Given the description of an element on the screen output the (x, y) to click on. 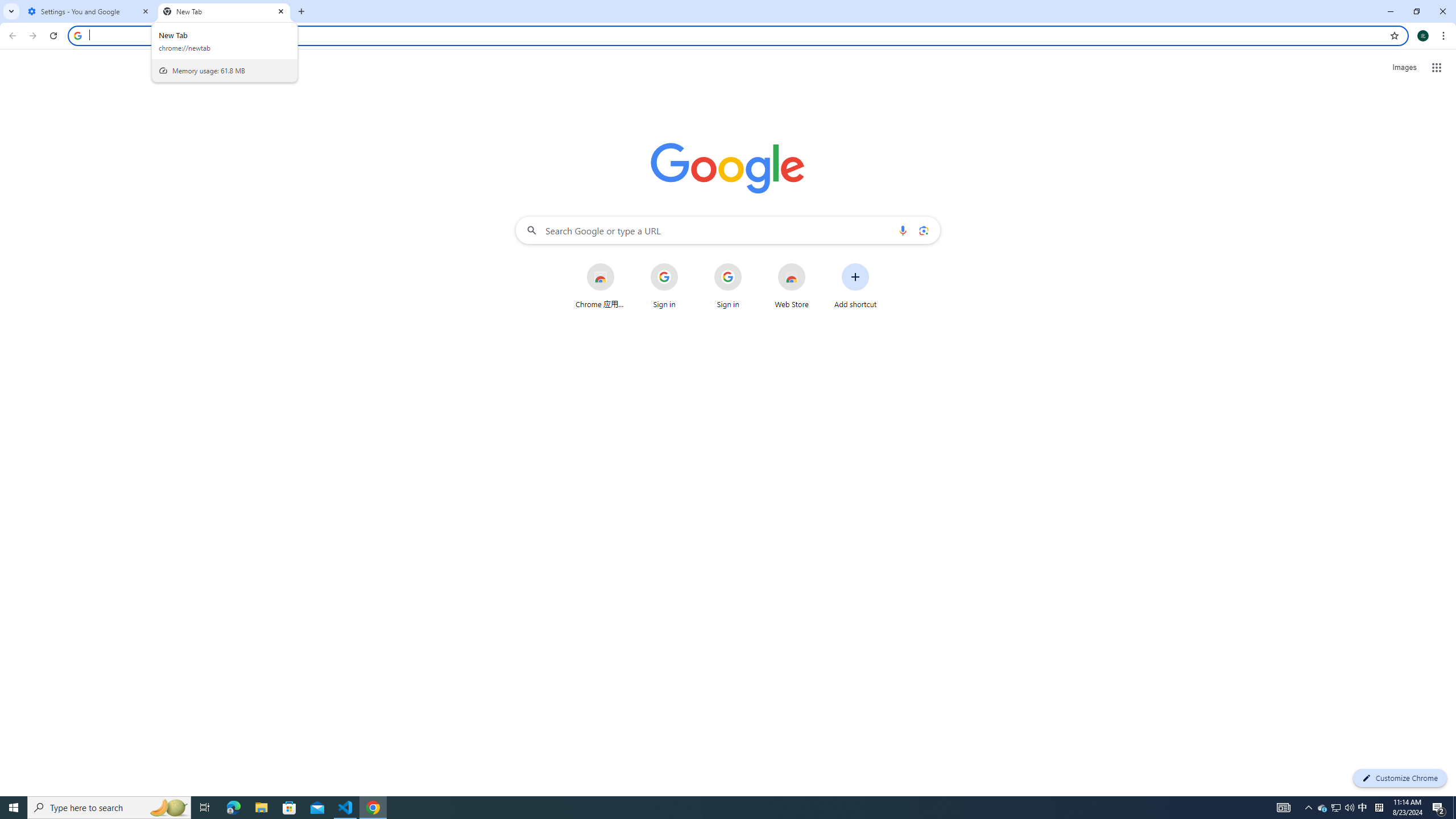
Sign in (727, 285)
Close (280, 11)
